Given the description of an element on the screen output the (x, y) to click on. 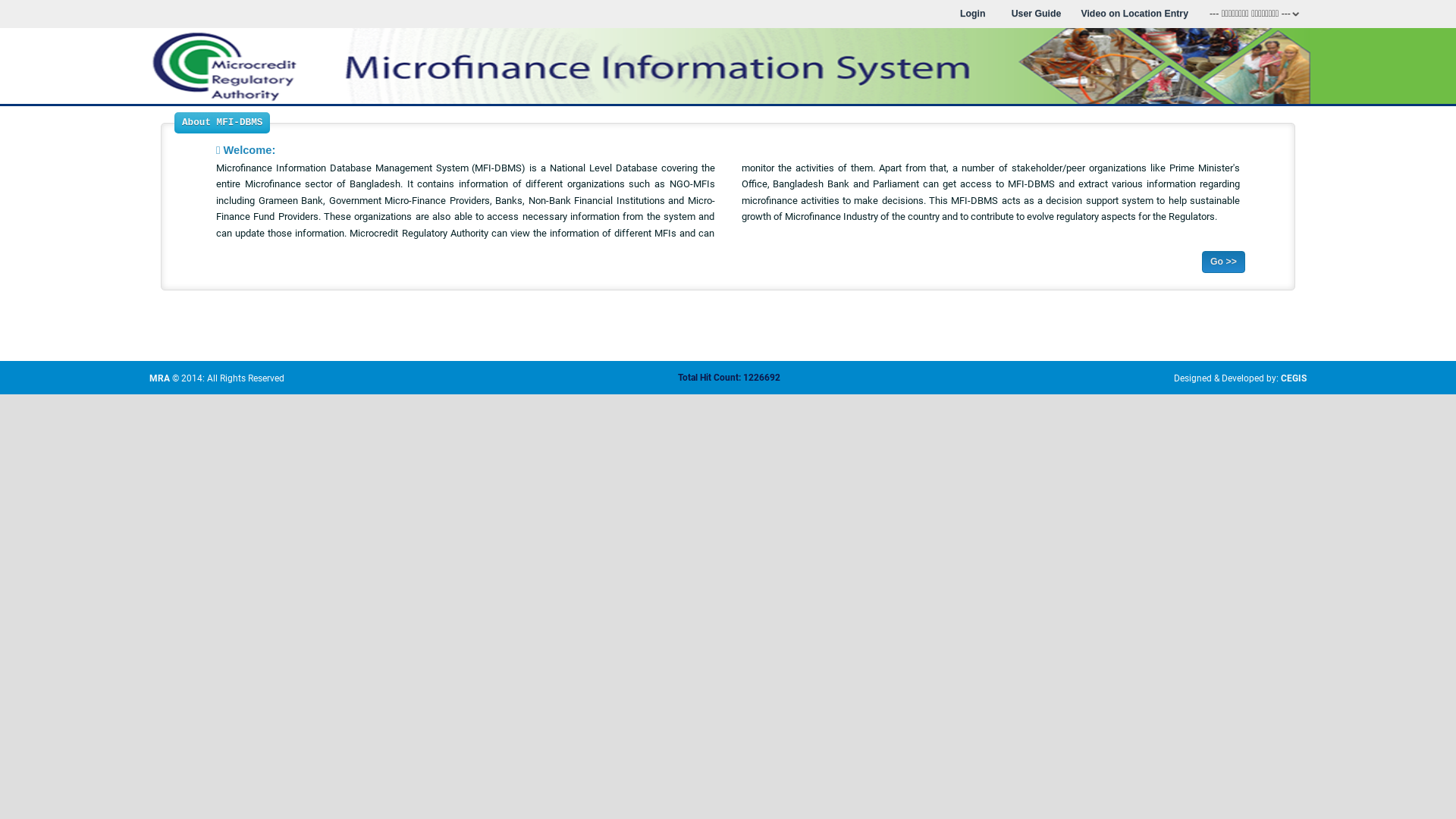
User Guide Element type: text (1036, 13)
Login Element type: text (972, 13)
MRA Element type: text (159, 378)
Video on Location Entry Element type: text (1134, 13)
Go >> Element type: text (1223, 262)
CEGIS Element type: text (1293, 378)
